Given the description of an element on the screen output the (x, y) to click on. 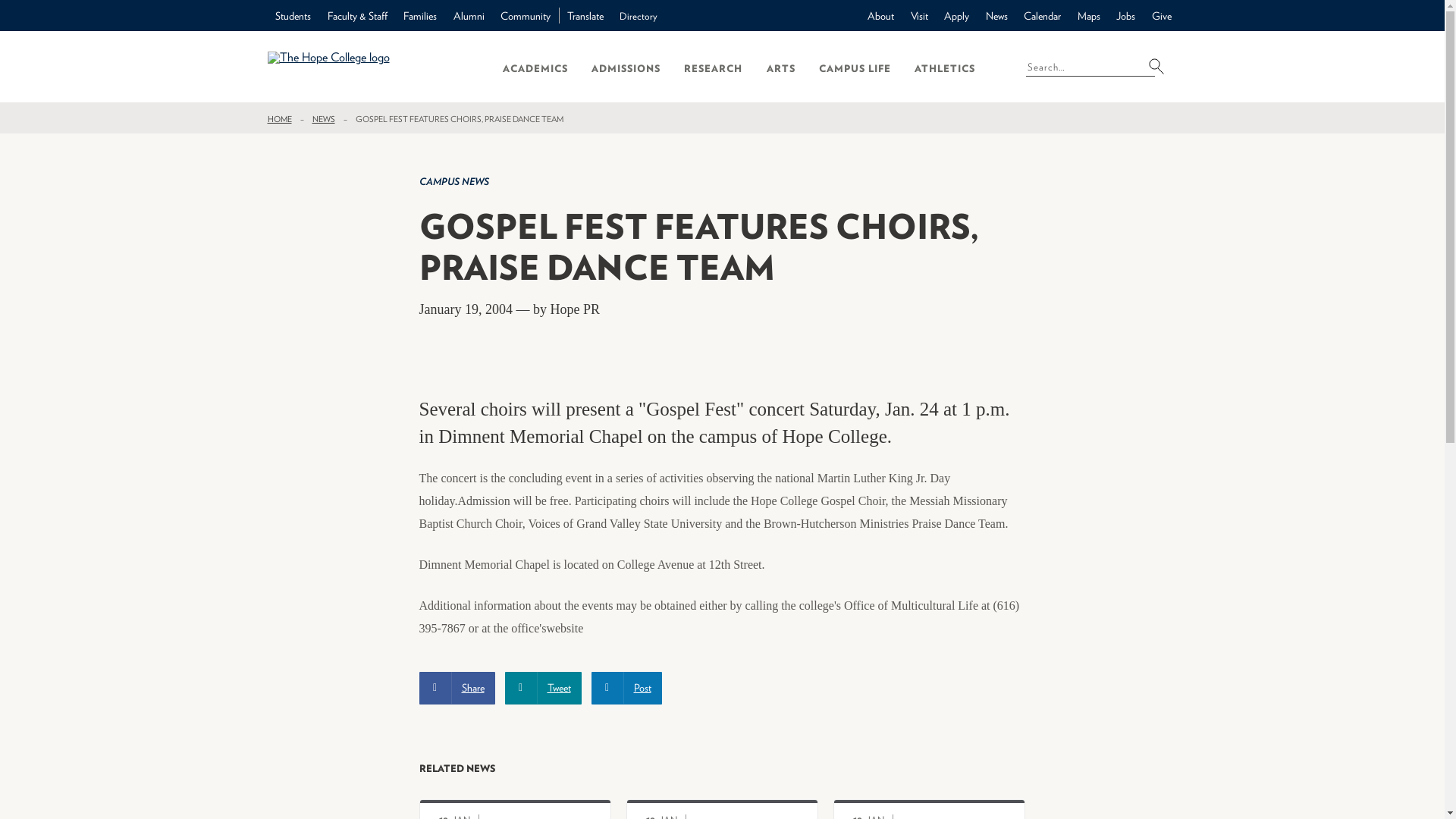
January (460, 814)
RESEARCH (713, 66)
ACADEMICS (535, 66)
SEARCH (1161, 65)
ADMISSIONS (625, 66)
January (874, 814)
January (668, 814)
